Given the description of an element on the screen output the (x, y) to click on. 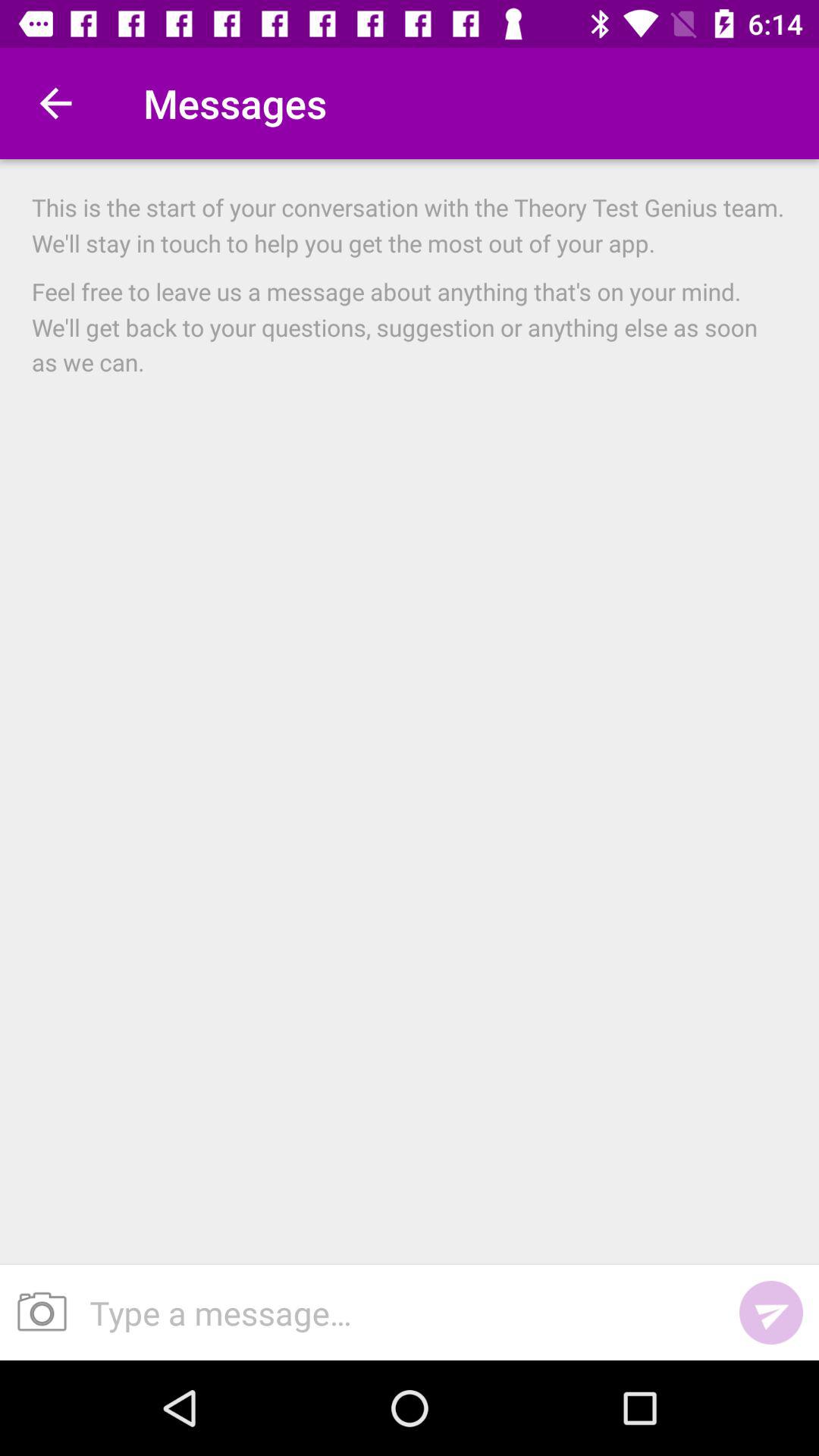
flip until feel free to icon (409, 326)
